Given the description of an element on the screen output the (x, y) to click on. 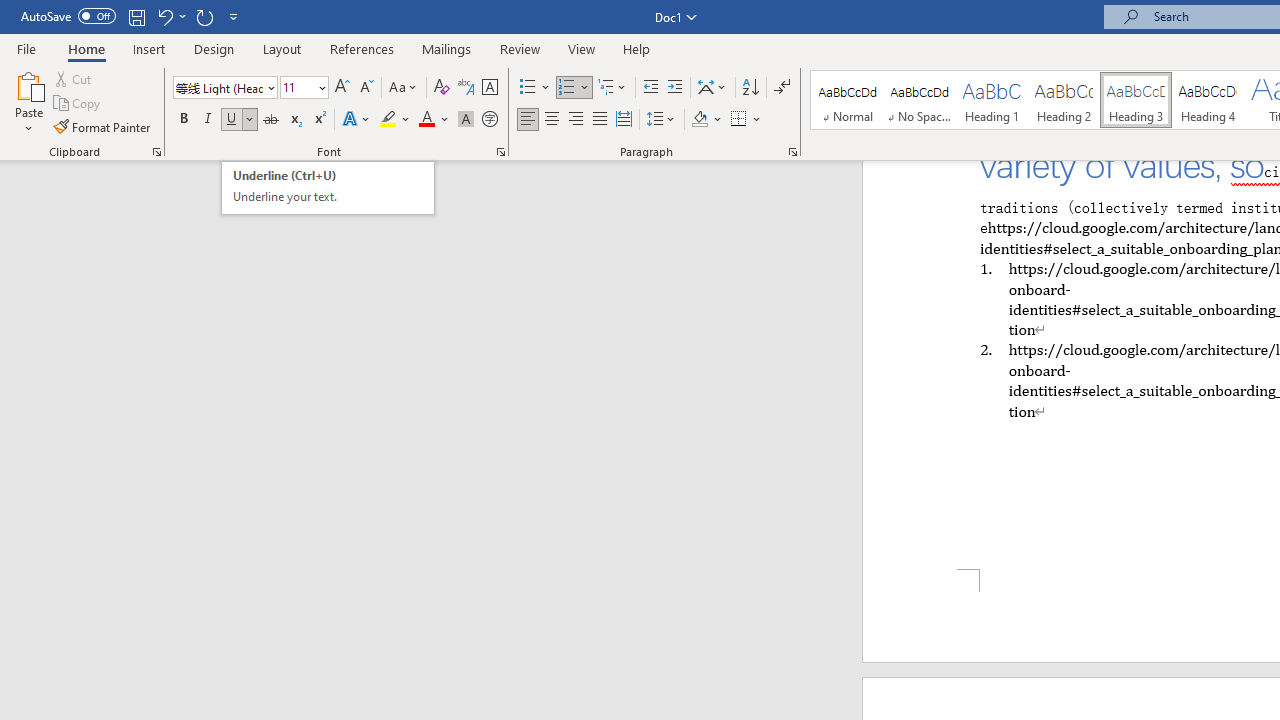
Repeat Underline Style (204, 15)
Heading 4 (1208, 100)
